Given the description of an element on the screen output the (x, y) to click on. 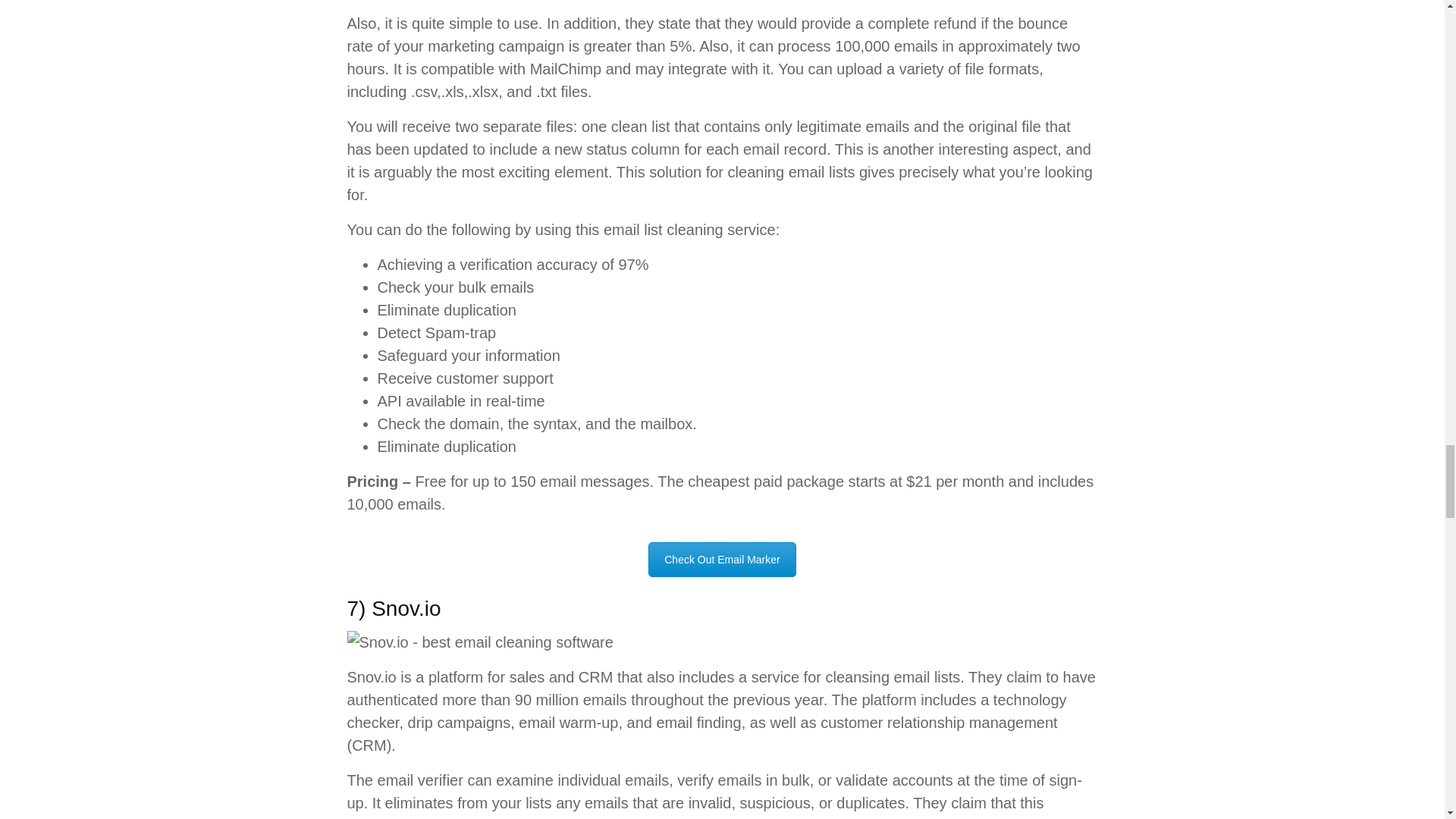
Check Out Email Marker (720, 559)
